Given the description of an element on the screen output the (x, y) to click on. 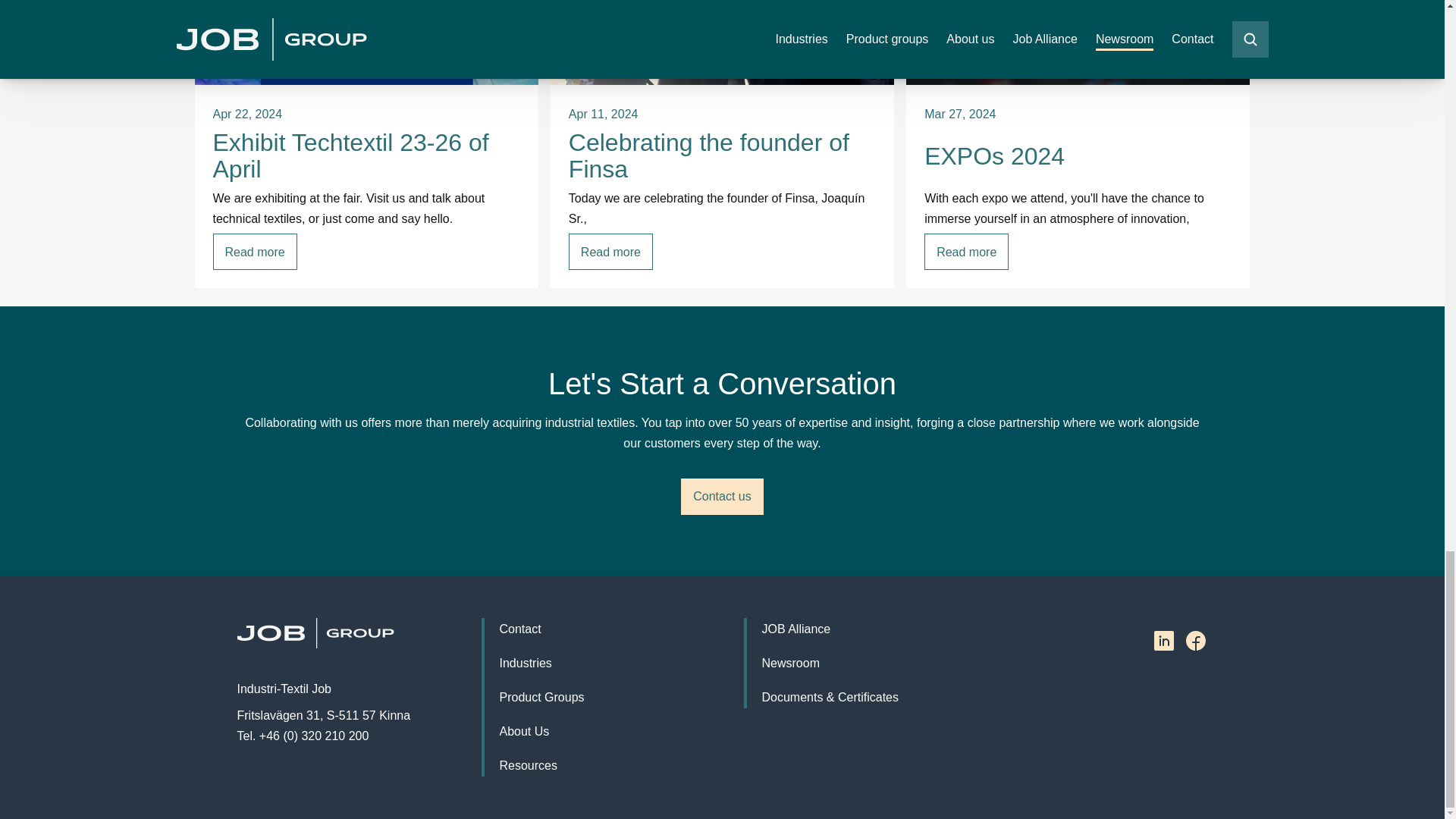
JOB Alliance (795, 628)
Contact us (721, 496)
Resources (527, 765)
Product Groups (541, 697)
About Us (523, 731)
Read more (966, 251)
Newsroom (789, 662)
Contact (519, 628)
Read more (254, 251)
Read more (610, 251)
